Given the description of an element on the screen output the (x, y) to click on. 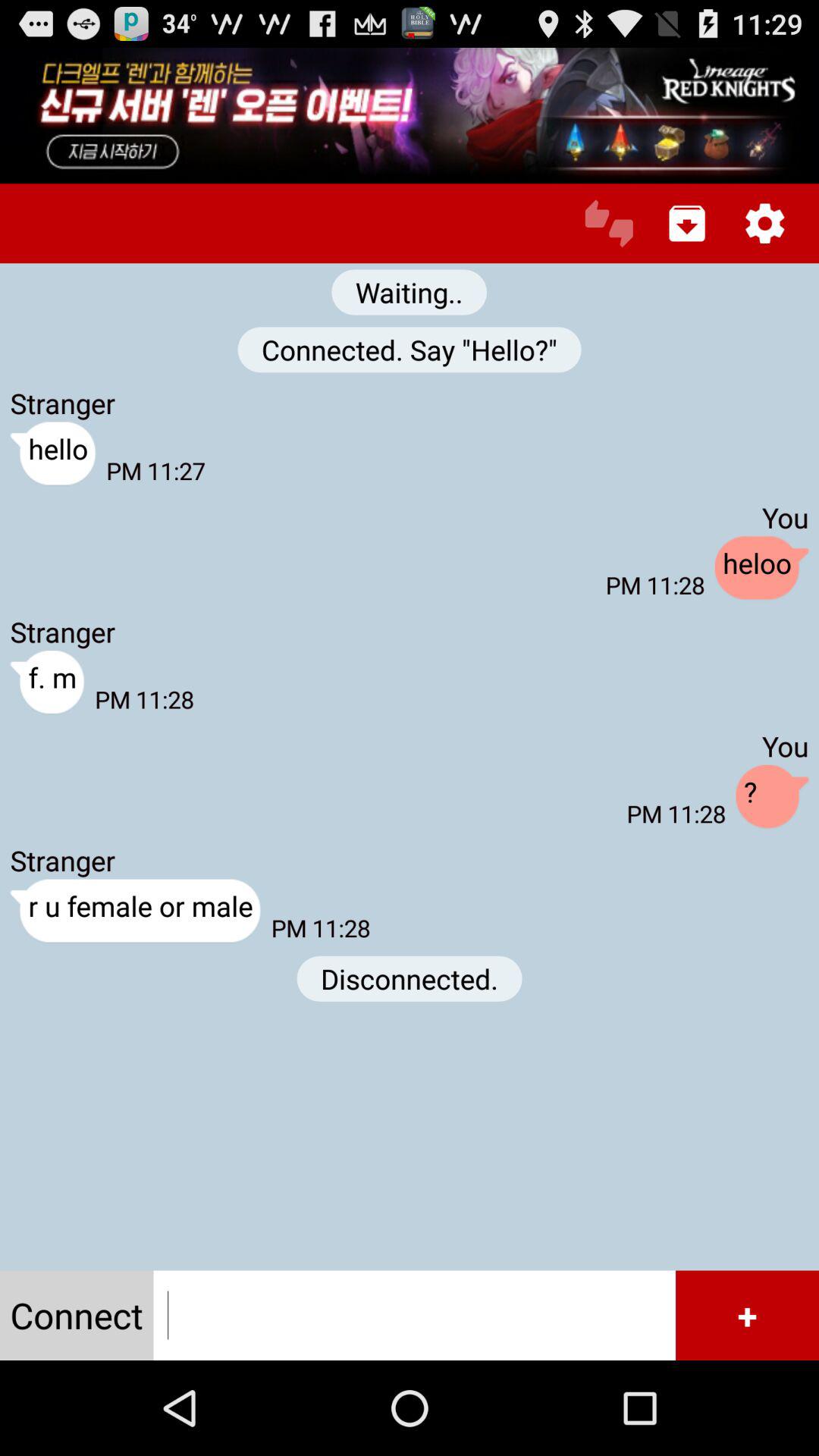
turn off icon below the you app (761, 568)
